Given the description of an element on the screen output the (x, y) to click on. 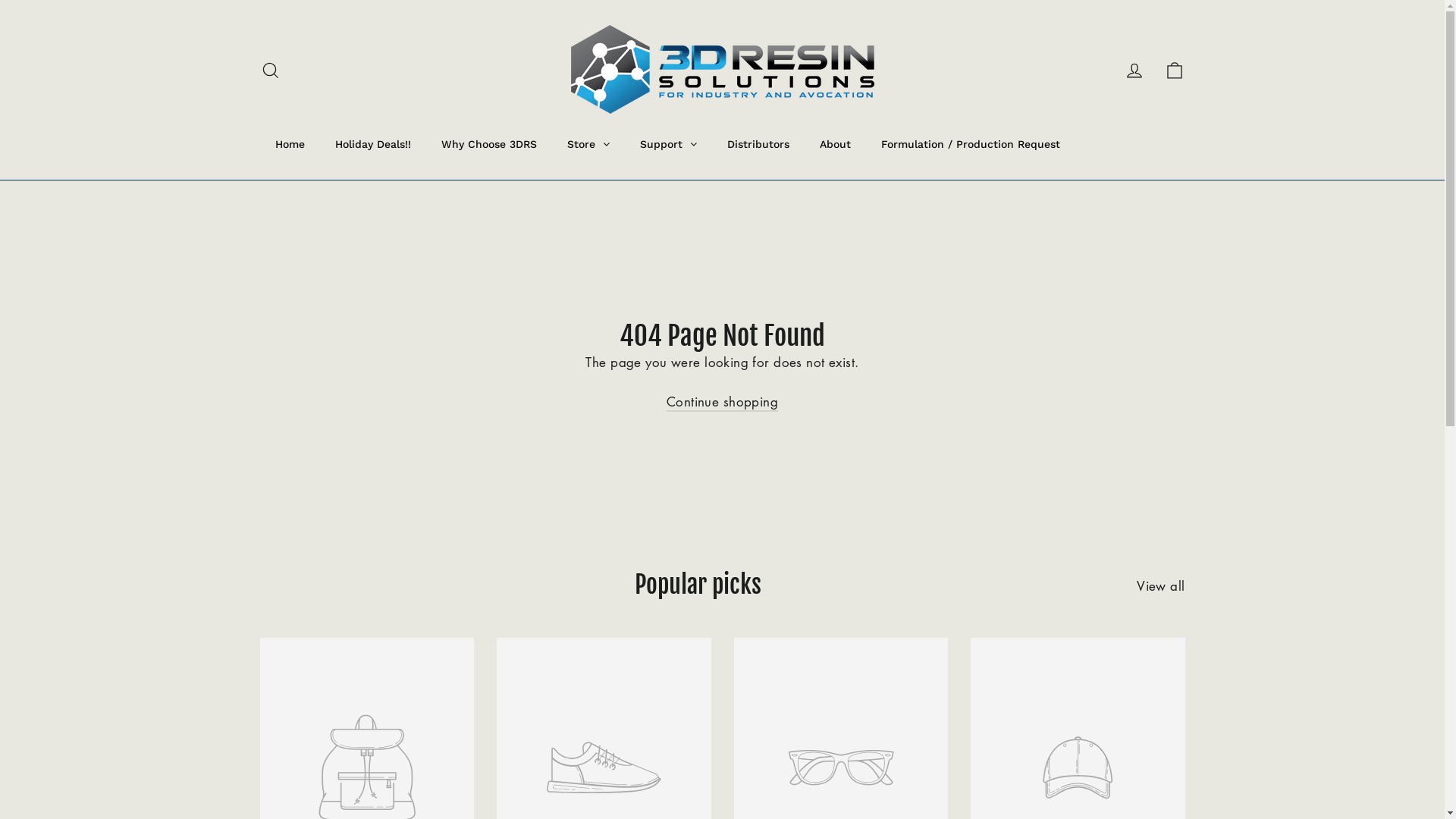
Store Element type: text (588, 144)
Skip to content Element type: text (0, 0)
Continue shopping Element type: text (722, 401)
Search Element type: text (269, 69)
Distributors Element type: text (757, 144)
Home Element type: text (289, 144)
View all Element type: text (1160, 583)
Support Element type: text (668, 144)
Log in Element type: text (1134, 69)
Holiday Deals!! Element type: text (373, 144)
Cart Element type: text (1173, 69)
About Element type: text (834, 144)
Why Choose 3DRS Element type: text (489, 144)
Formulation / Production Request Element type: text (970, 144)
